Given the description of an element on the screen output the (x, y) to click on. 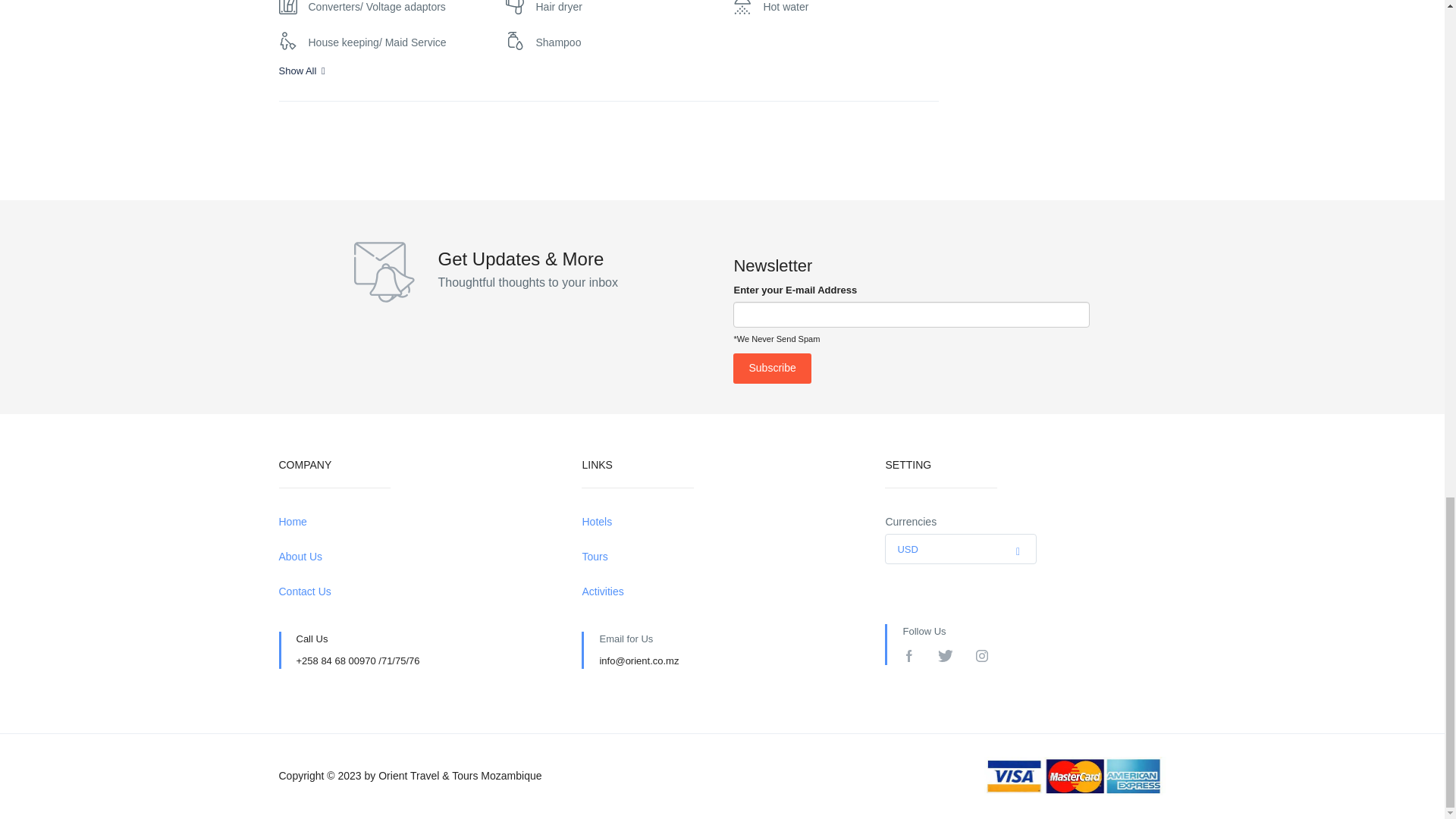
About Us (419, 556)
Tours (720, 556)
Contact Us (419, 591)
Activities (720, 591)
Show All (609, 70)
Subscribe (771, 368)
USD (960, 549)
Subscribe (771, 368)
Home (419, 521)
Hotels (720, 521)
